Given the description of an element on the screen output the (x, y) to click on. 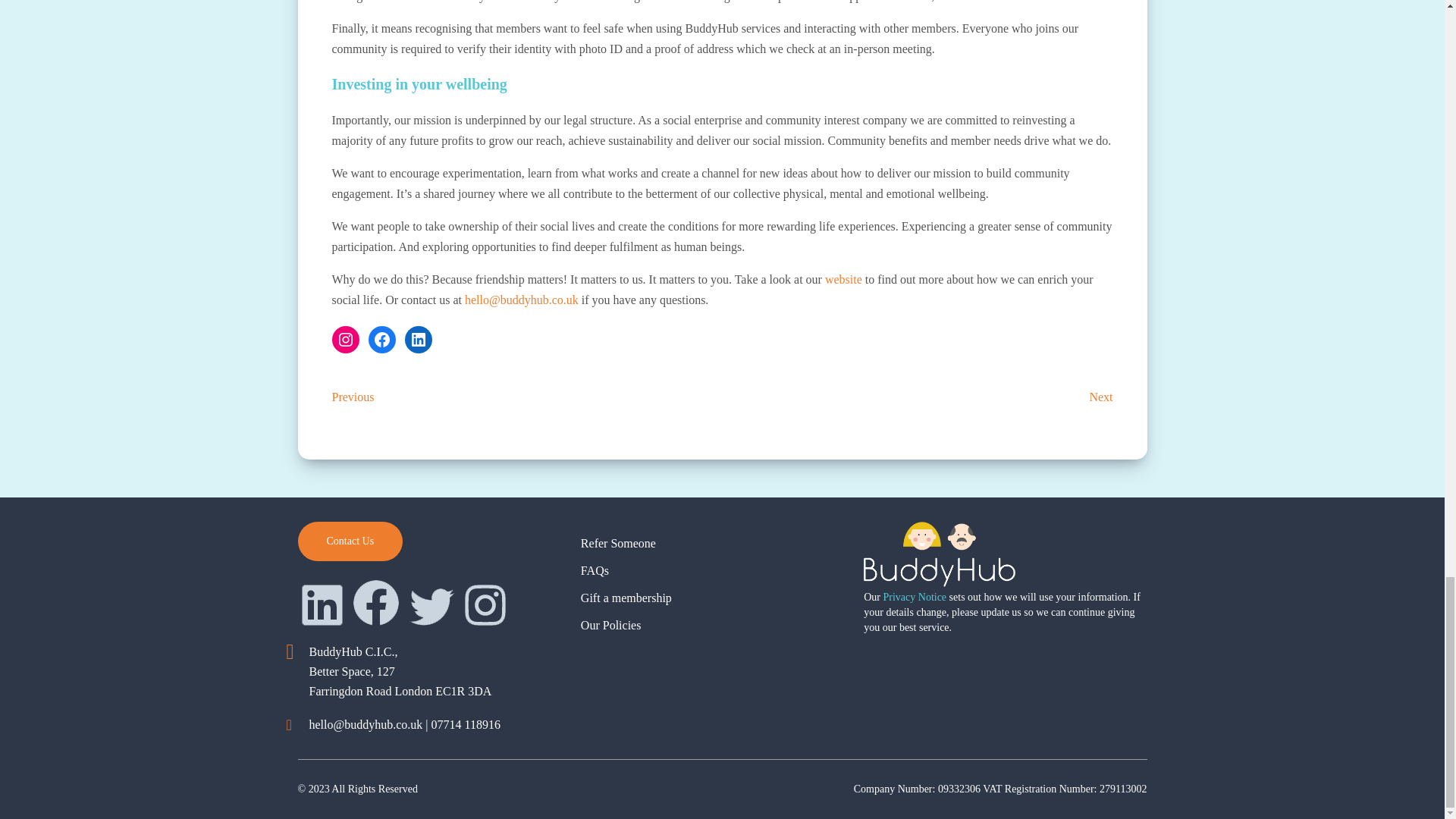
Next (1100, 396)
website (843, 278)
LinkedIn (418, 338)
FAQs (594, 570)
Gift a membership (625, 597)
Contact Us (350, 541)
Contact Us (350, 541)
Privacy Notice (915, 596)
Our Policies (611, 625)
Instagram (345, 338)
Previous (352, 396)
Facebook (382, 338)
Refer Someone (618, 543)
